Given the description of an element on the screen output the (x, y) to click on. 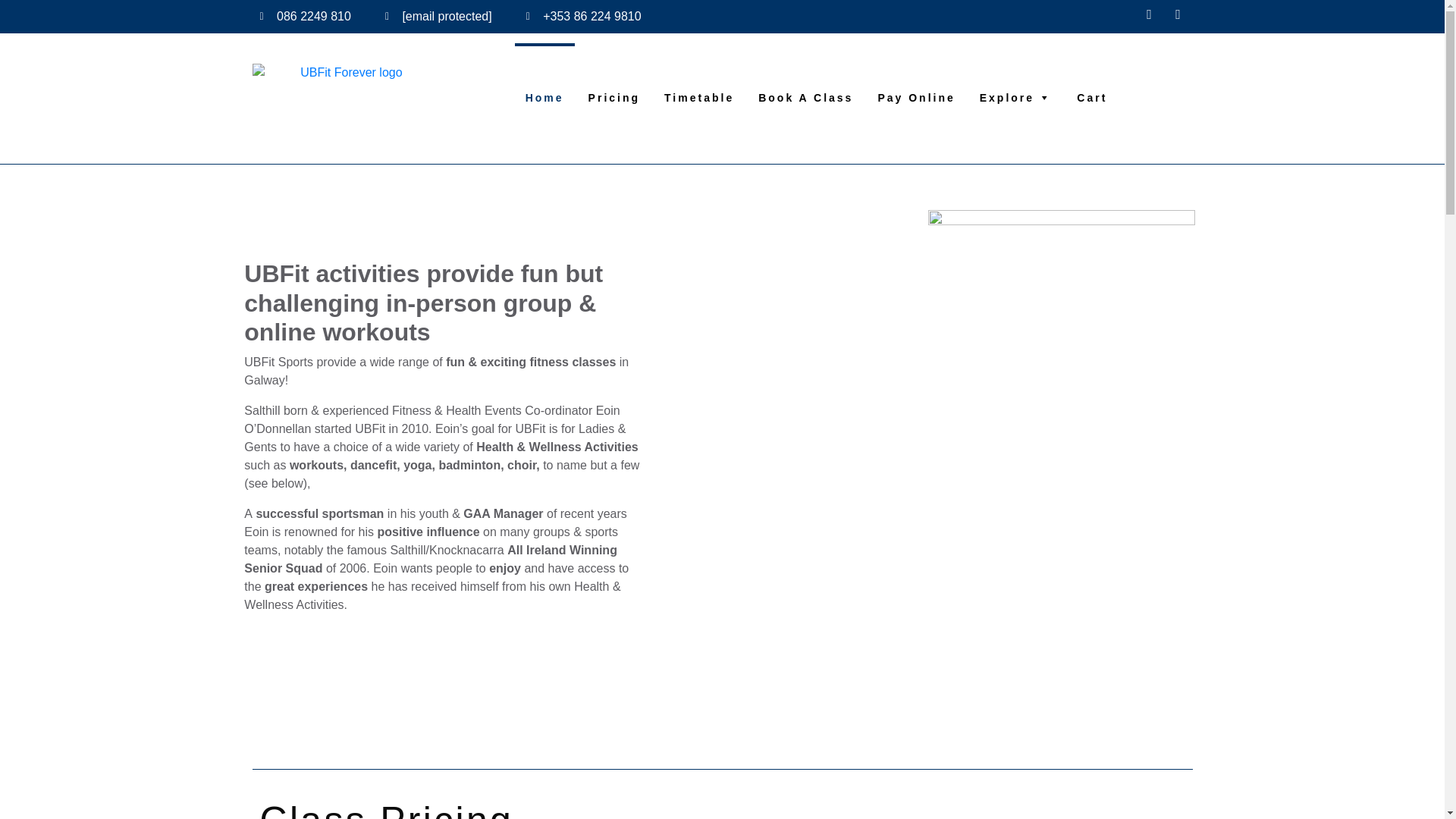
Pricing (614, 73)
Home (545, 73)
Book A Class (805, 73)
086 2249 810 (304, 16)
Pay Online (915, 73)
Timetable (698, 73)
Explore (1016, 73)
